Given the description of an element on the screen output the (x, y) to click on. 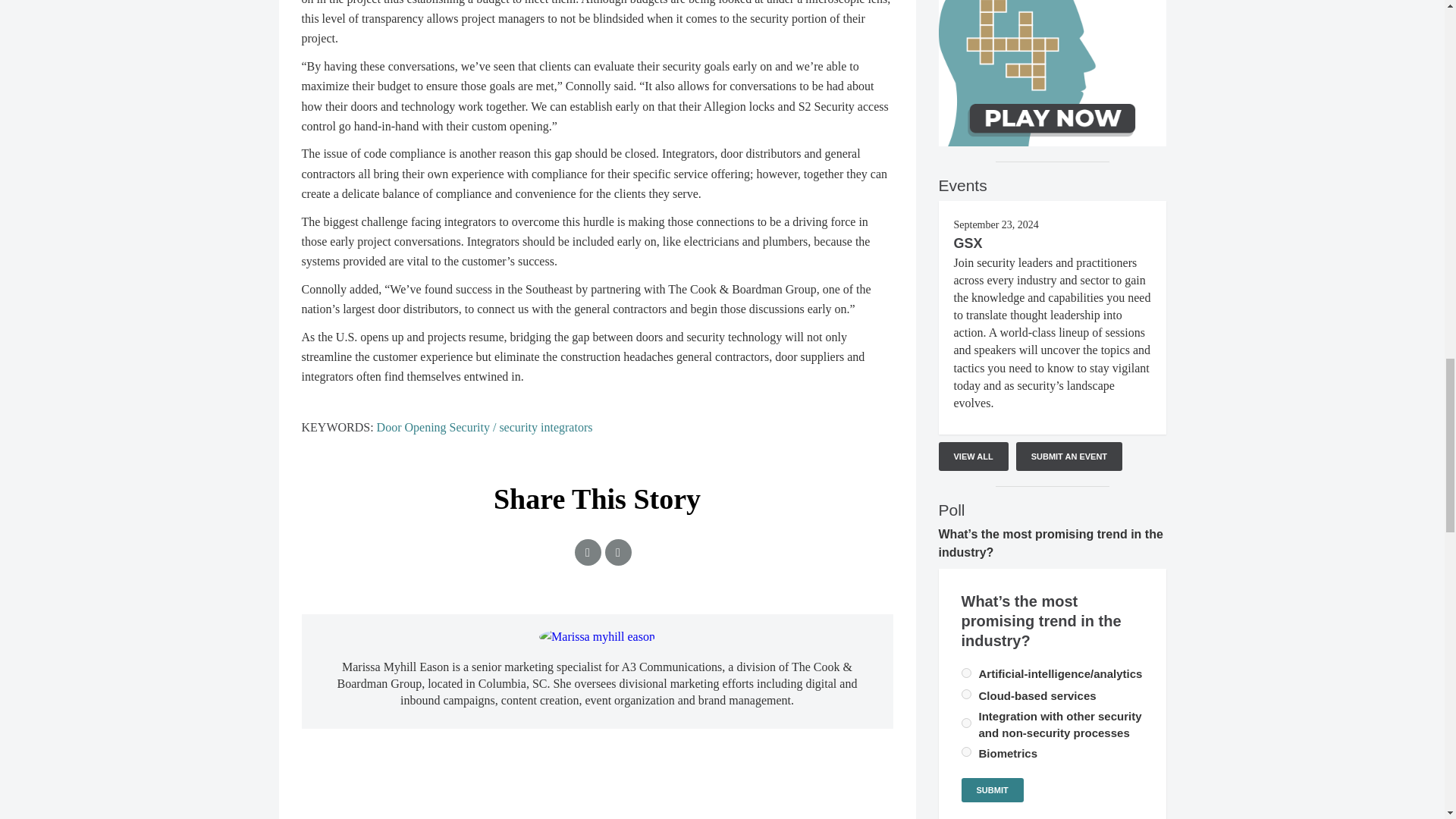
489 (965, 673)
491 (965, 723)
GSX (967, 242)
492 (965, 751)
490 (965, 694)
Submit (991, 790)
